Given the description of an element on the screen output the (x, y) to click on. 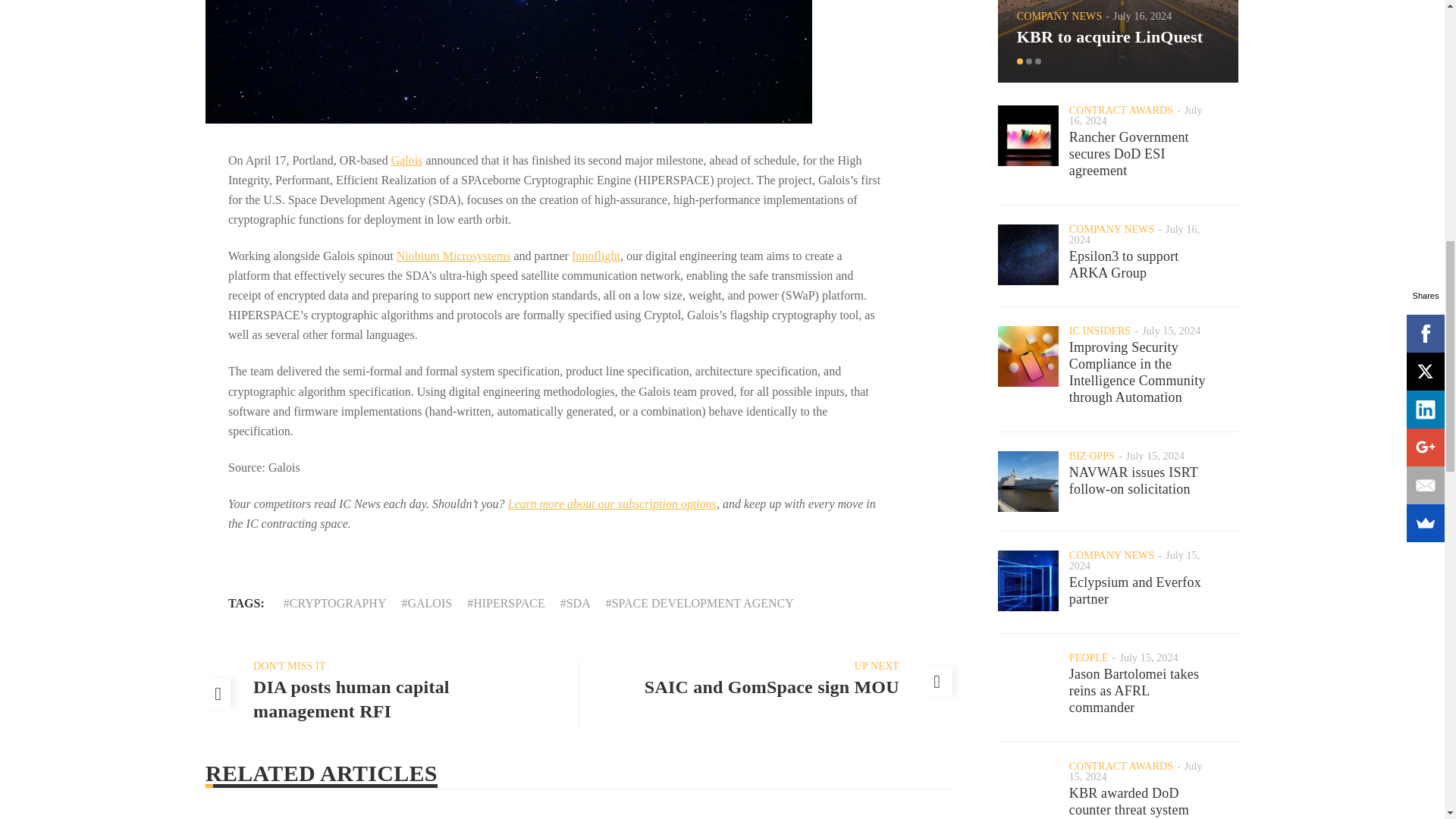
SAIC and GomSpace sign MOU (772, 686)
DIA posts human capital management RFI (351, 699)
